Given the description of an element on the screen output the (x, y) to click on. 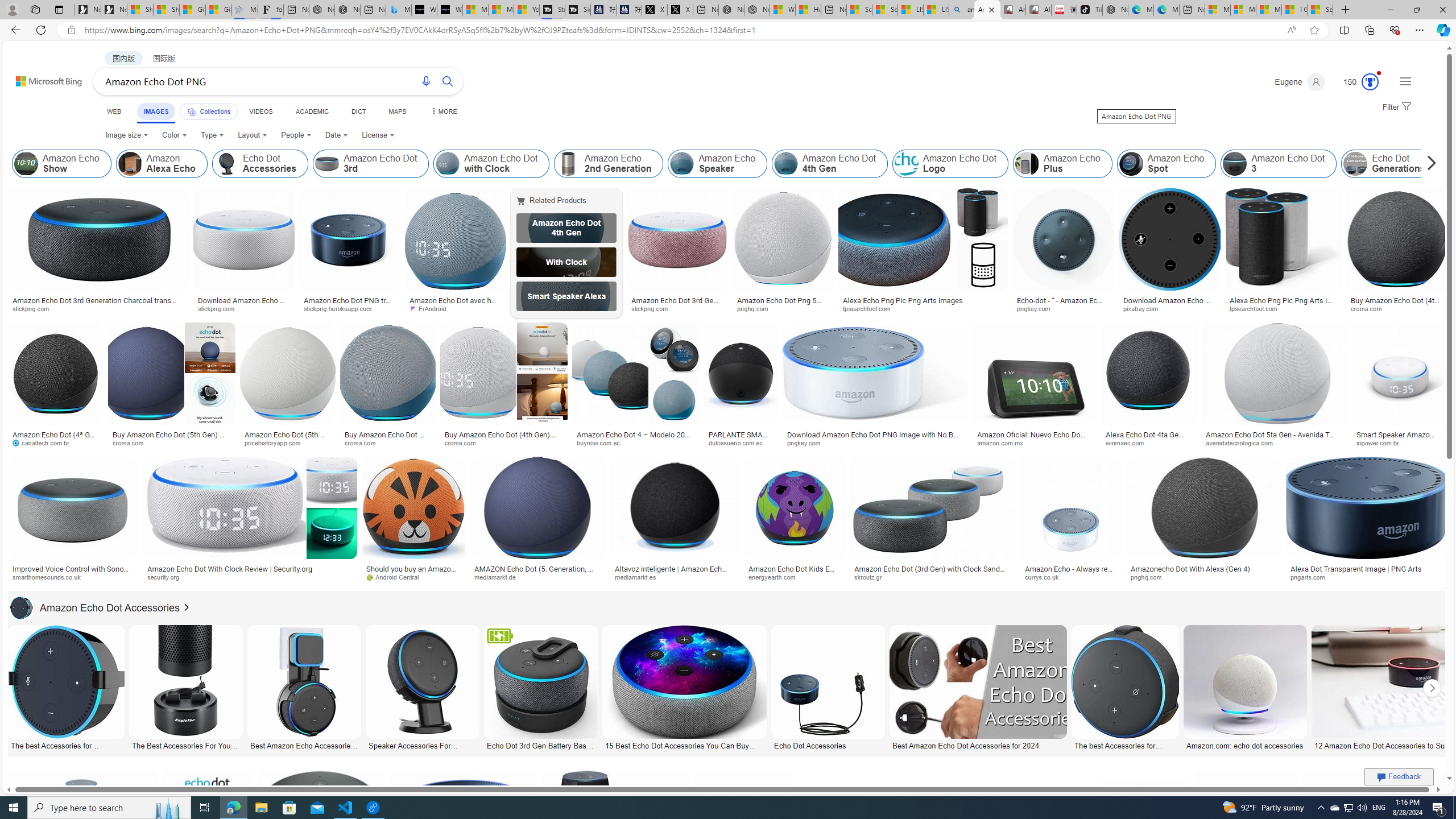
Amazon Echo Dot Kids Edition - 5th Generation (794, 572)
License (377, 135)
Amazon Echo Dot With Clock Review | Security.org (230, 568)
Date (336, 135)
Image size (127, 135)
pngarts.com (1366, 576)
Settings and quick links (1404, 80)
Amazon Echo Dot 4th Gen (565, 227)
